Given the description of an element on the screen output the (x, y) to click on. 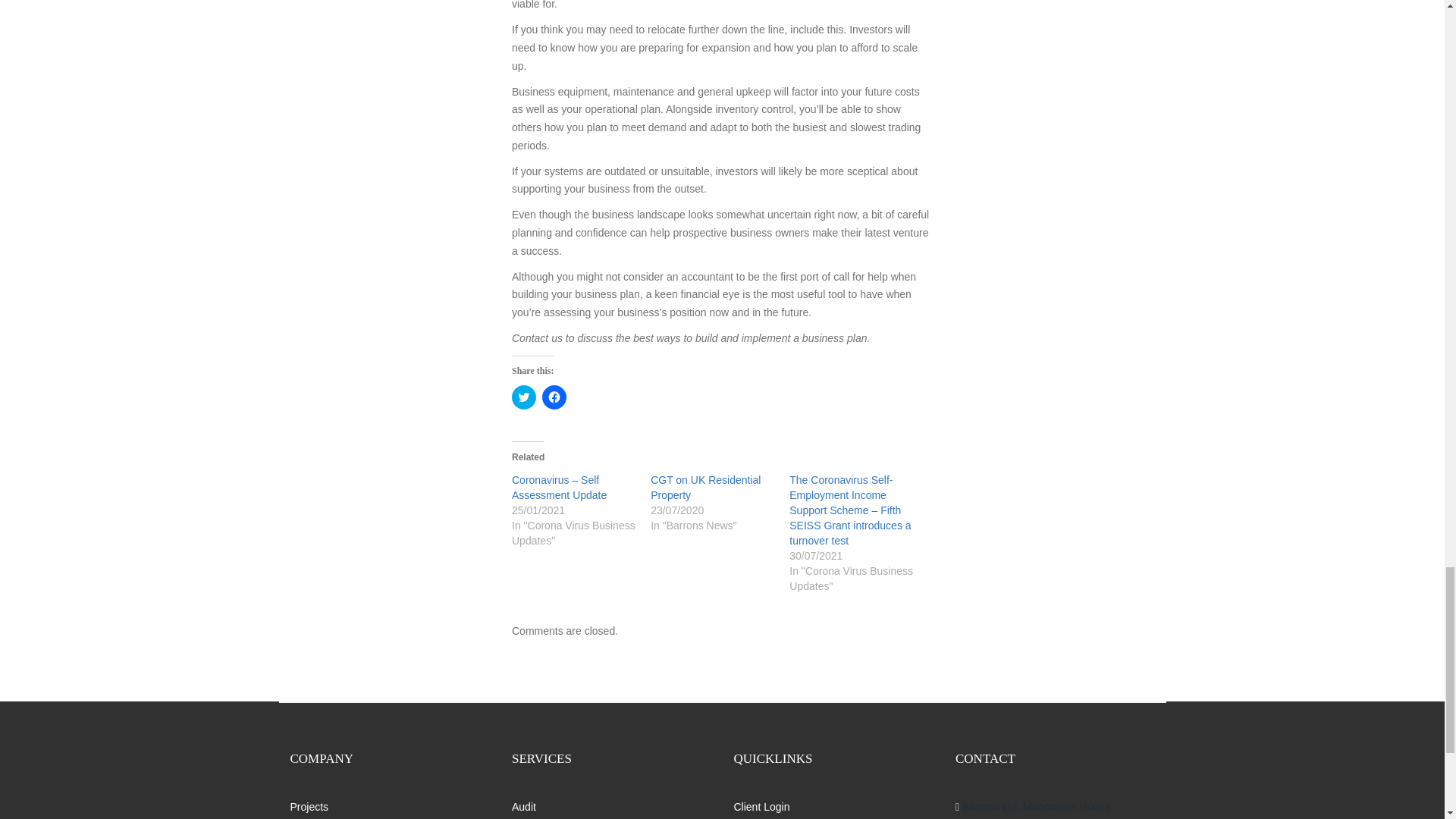
CGT on UK Residential Property (705, 487)
Click to share on Twitter (523, 396)
Click to share on Facebook (553, 396)
